Given the description of an element on the screen output the (x, y) to click on. 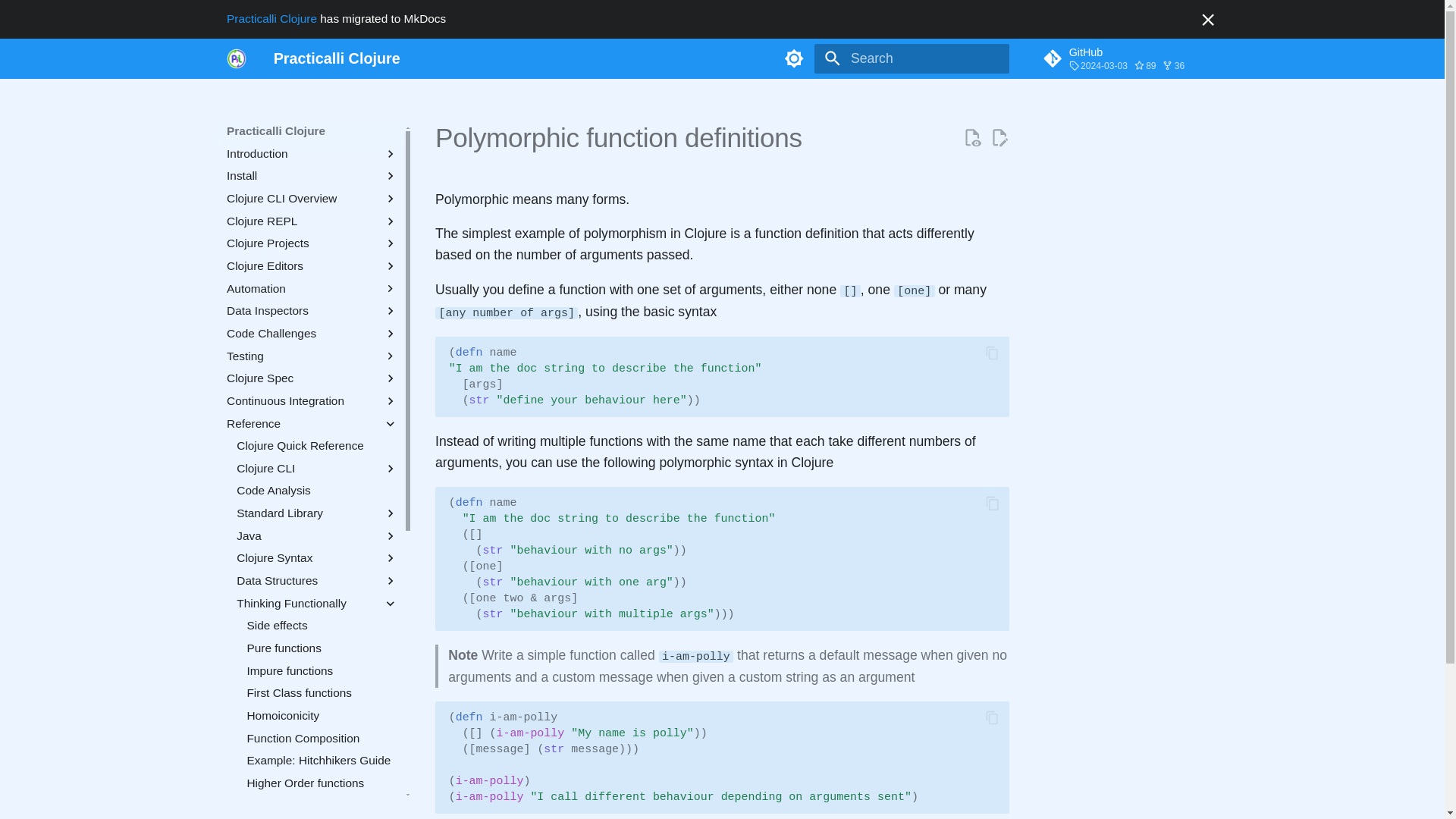
Switch to dark mode (793, 58)
Introduction (301, 153)
Clojure CLI Overview (301, 198)
Install (301, 175)
Copy to clipboard (992, 352)
Practicalli Clojure (336, 58)
Copy to clipboard (992, 503)
Clojure Projects (301, 242)
Edit this page (999, 137)
Practicalli Clojure (336, 58)
